Given the description of an element on the screen output the (x, y) to click on. 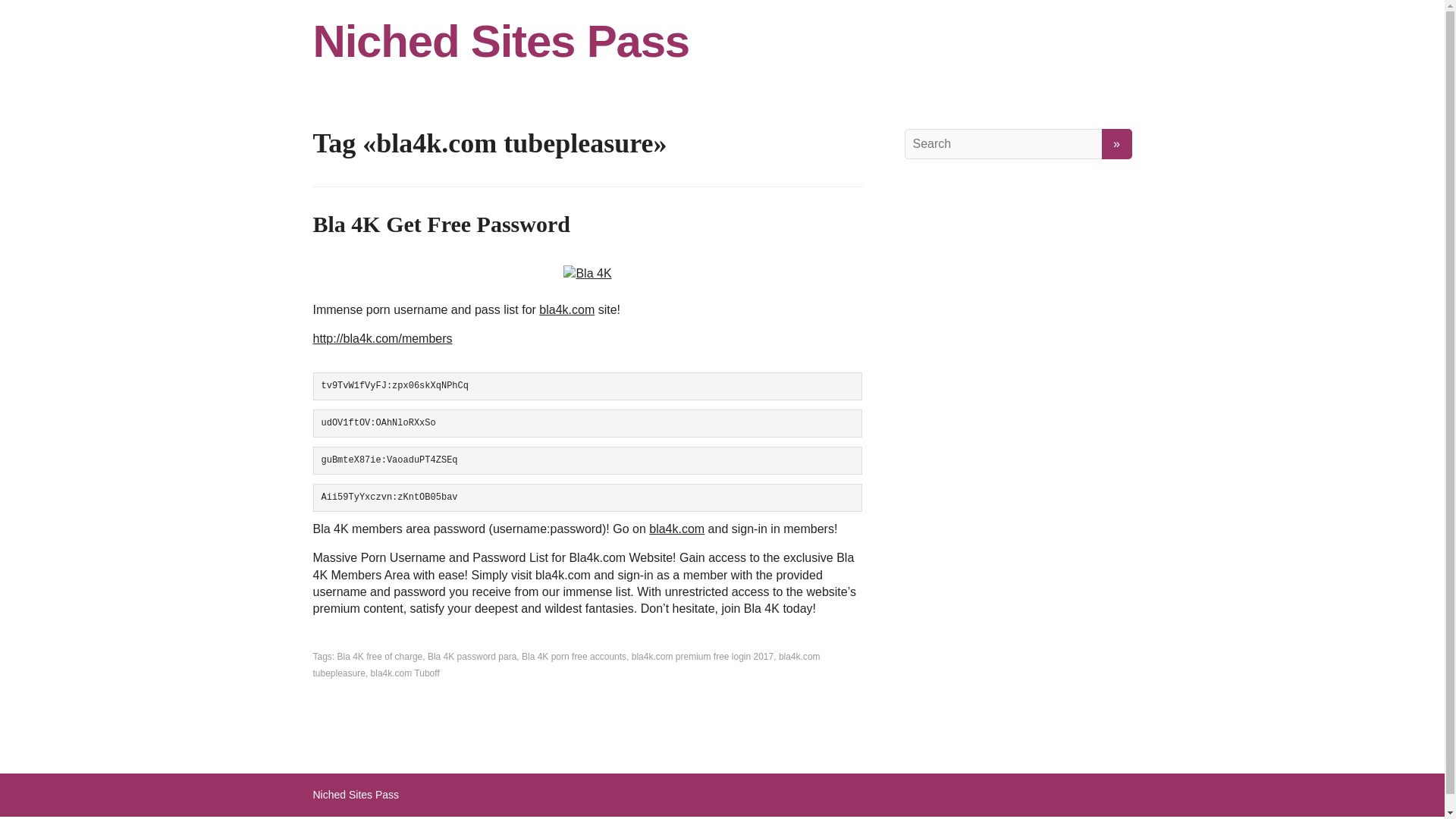
bla4k.com premium free login 2017 (702, 656)
Bla 4K (587, 273)
Bla 4K free of charge (380, 656)
Bla 4K porn free accounts (573, 656)
bla4k.com tubepleasure (566, 664)
Bla 4K password para (472, 656)
bla4k.com (676, 528)
bla4k.com Tuboff (405, 673)
Bla 4K Get Free Password (441, 223)
Niched Sites Pass (722, 41)
